Given the description of an element on the screen output the (x, y) to click on. 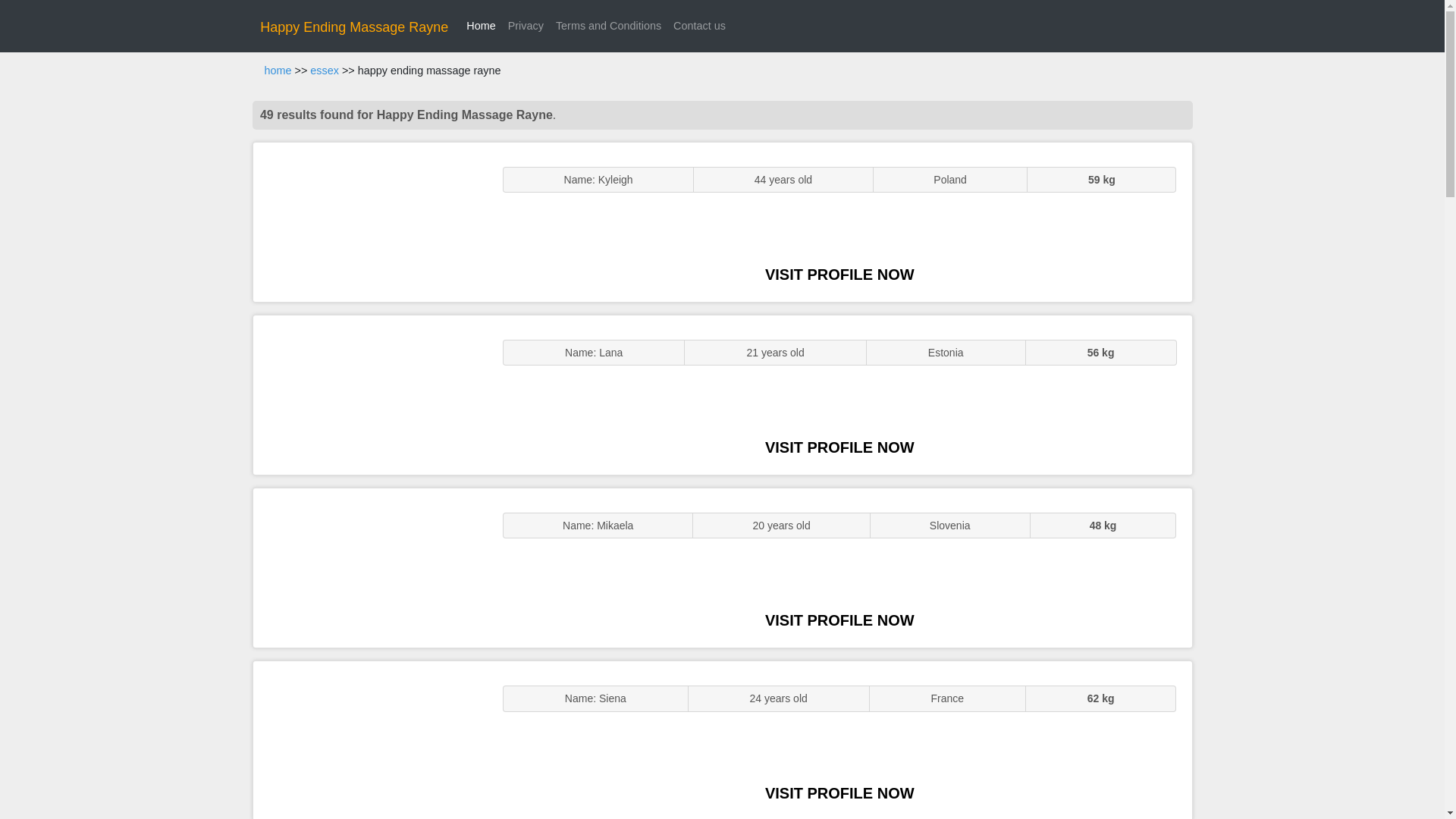
Sluts (370, 739)
essex (324, 70)
Privacy (526, 25)
VISIT PROFILE NOW (839, 274)
VISIT PROFILE NOW (839, 619)
Happy Ending Massage Rayne (354, 27)
VISIT PROFILE NOW (839, 792)
Terms and Conditions (608, 25)
Contact us (699, 25)
Sexy (370, 567)
